Given the description of an element on the screen output the (x, y) to click on. 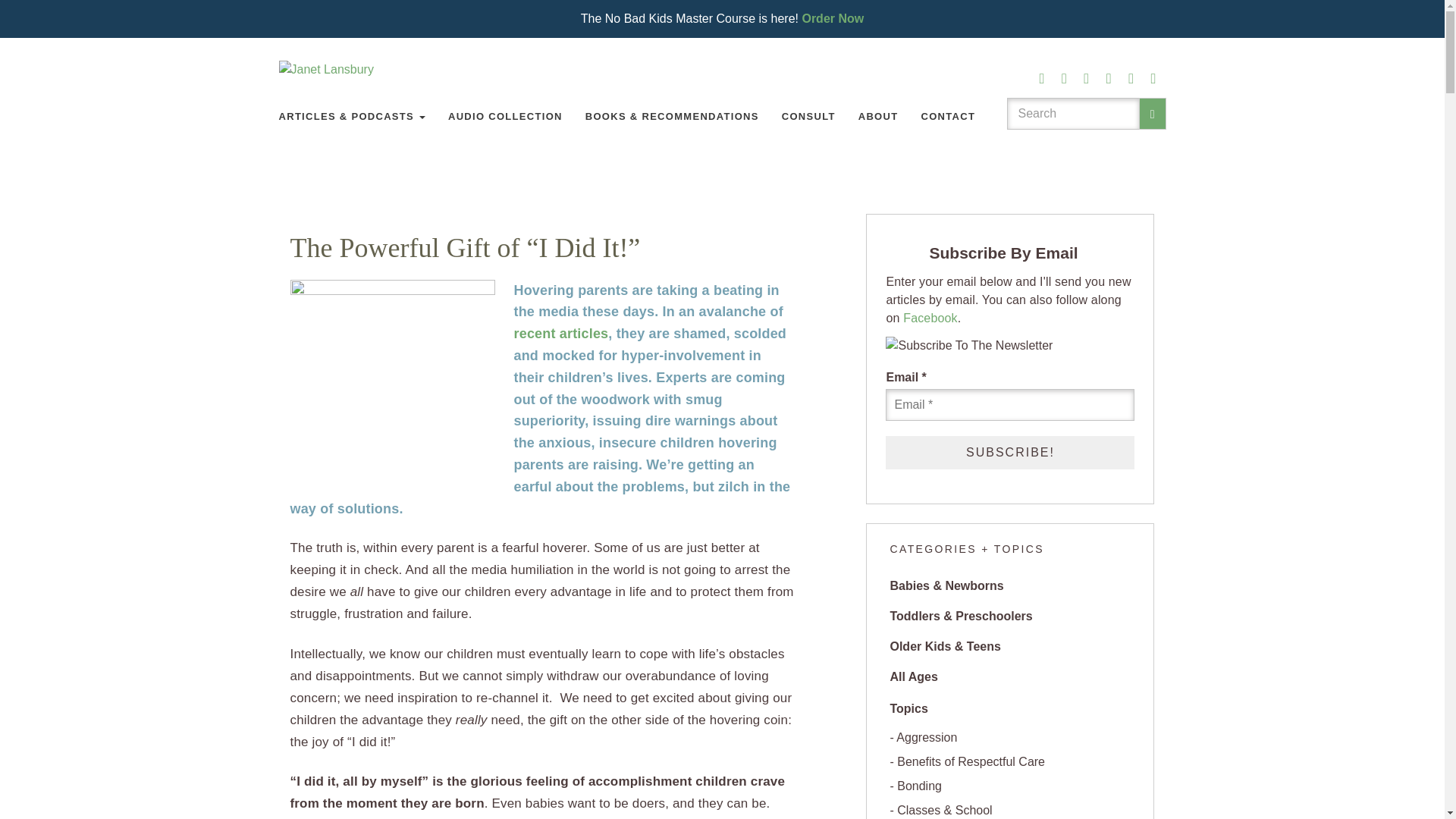
Contact (947, 116)
About (878, 116)
CONTACT (947, 116)
ABOUT (878, 116)
Consult (808, 116)
Order Now (832, 18)
AUDIO COLLECTION (504, 116)
recent articles (560, 333)
CONSULT (808, 116)
Audio Collection (504, 116)
